Given the description of an element on the screen output the (x, y) to click on. 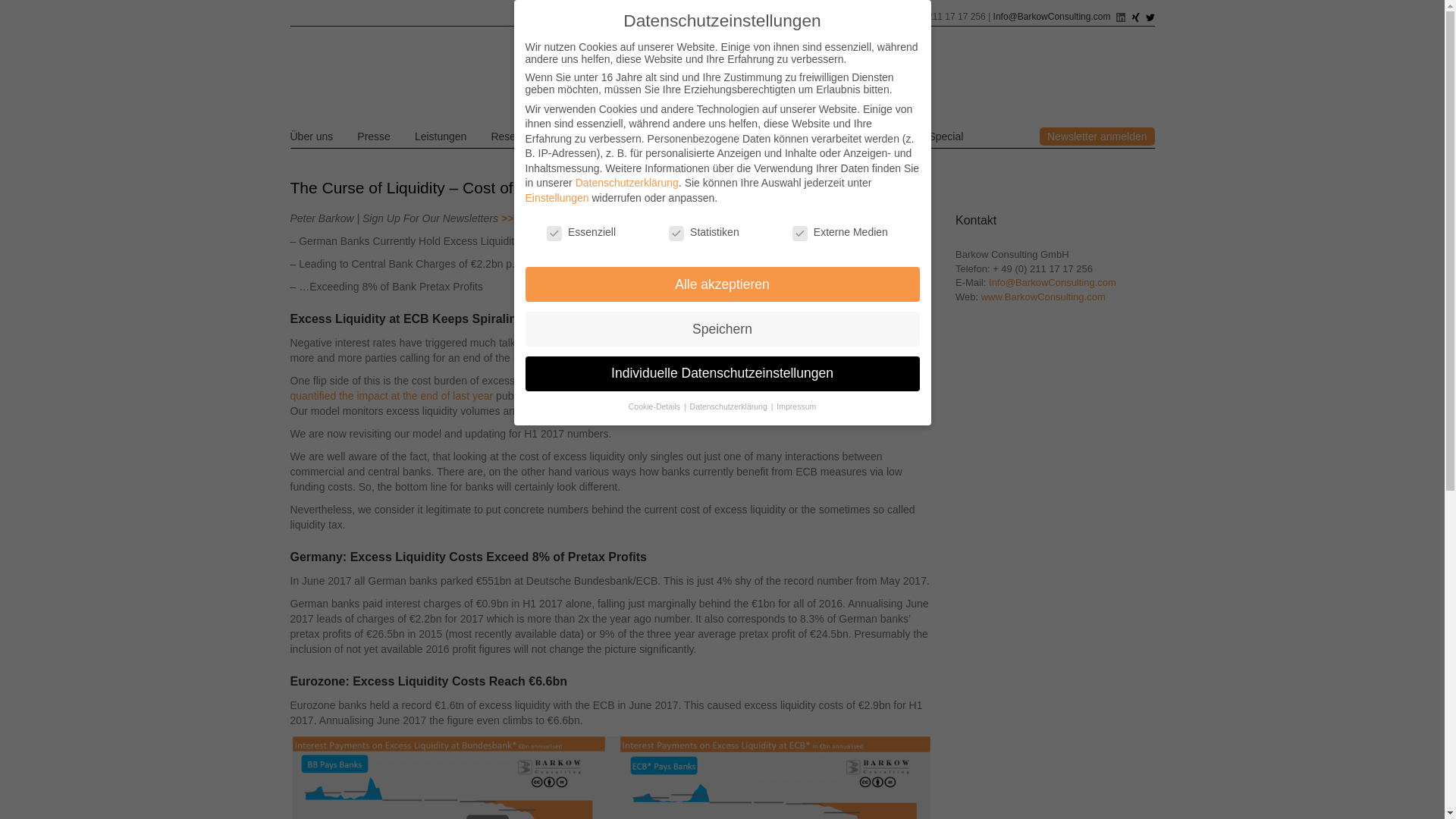
Zins-Special (748, 136)
Www.BarkowConsulting.com (1043, 296)
Xing (1136, 16)
Linked In (1120, 17)
Ukraine-Special (925, 136)
Barkow Consulting Logo (721, 75)
Research-Produkte (648, 136)
Leistungen (440, 136)
Xing (1135, 17)
Twitter (1149, 17)
Research-Themen (534, 136)
Baufi-Special (833, 136)
Presse (373, 136)
Linked In (1121, 16)
